Given the description of an element on the screen output the (x, y) to click on. 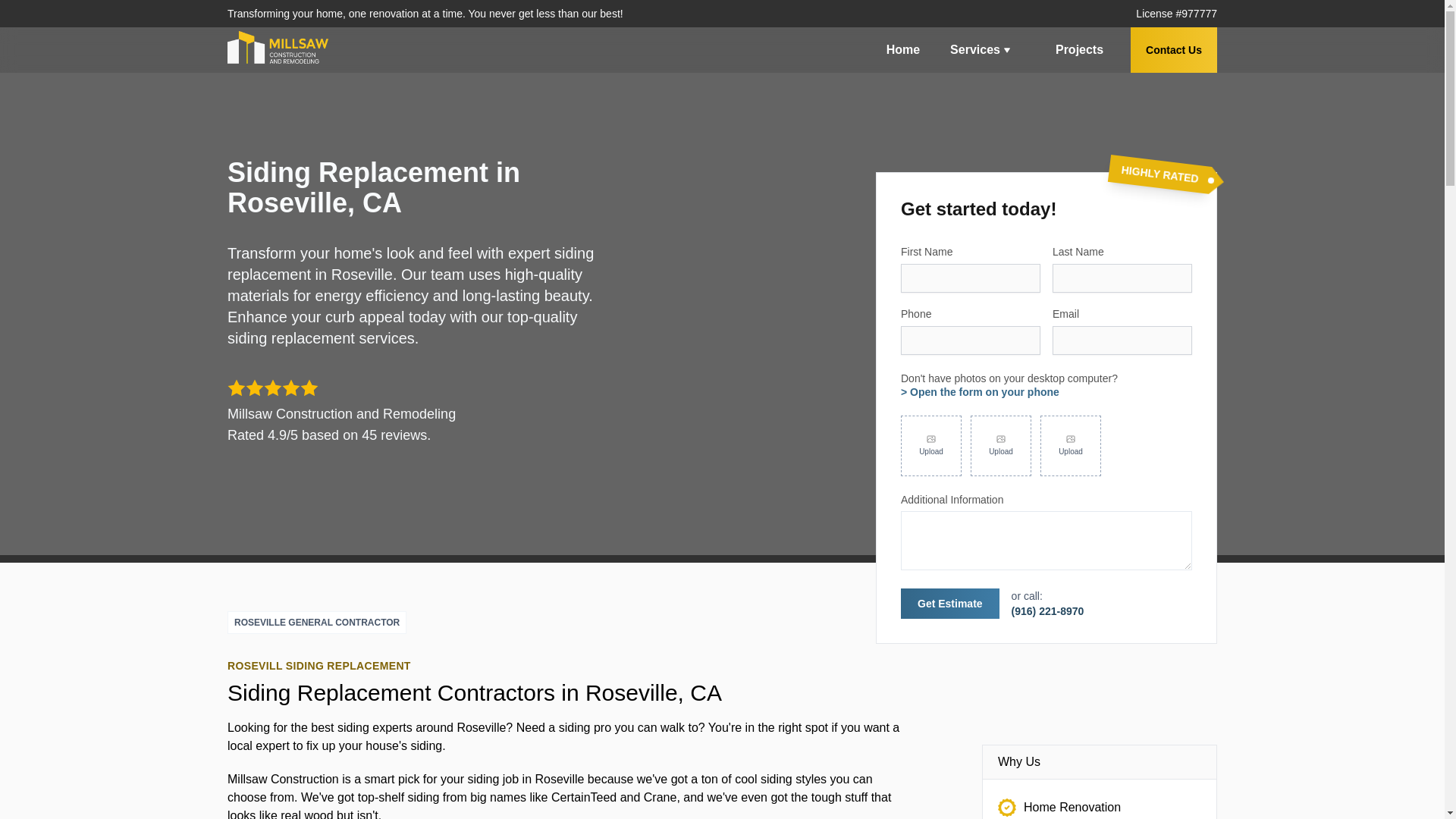
Upload (930, 445)
Upload (1000, 445)
Upload (1070, 445)
Get Estimate (949, 603)
Projects (1079, 49)
Home (902, 49)
